Given the description of an element on the screen output the (x, y) to click on. 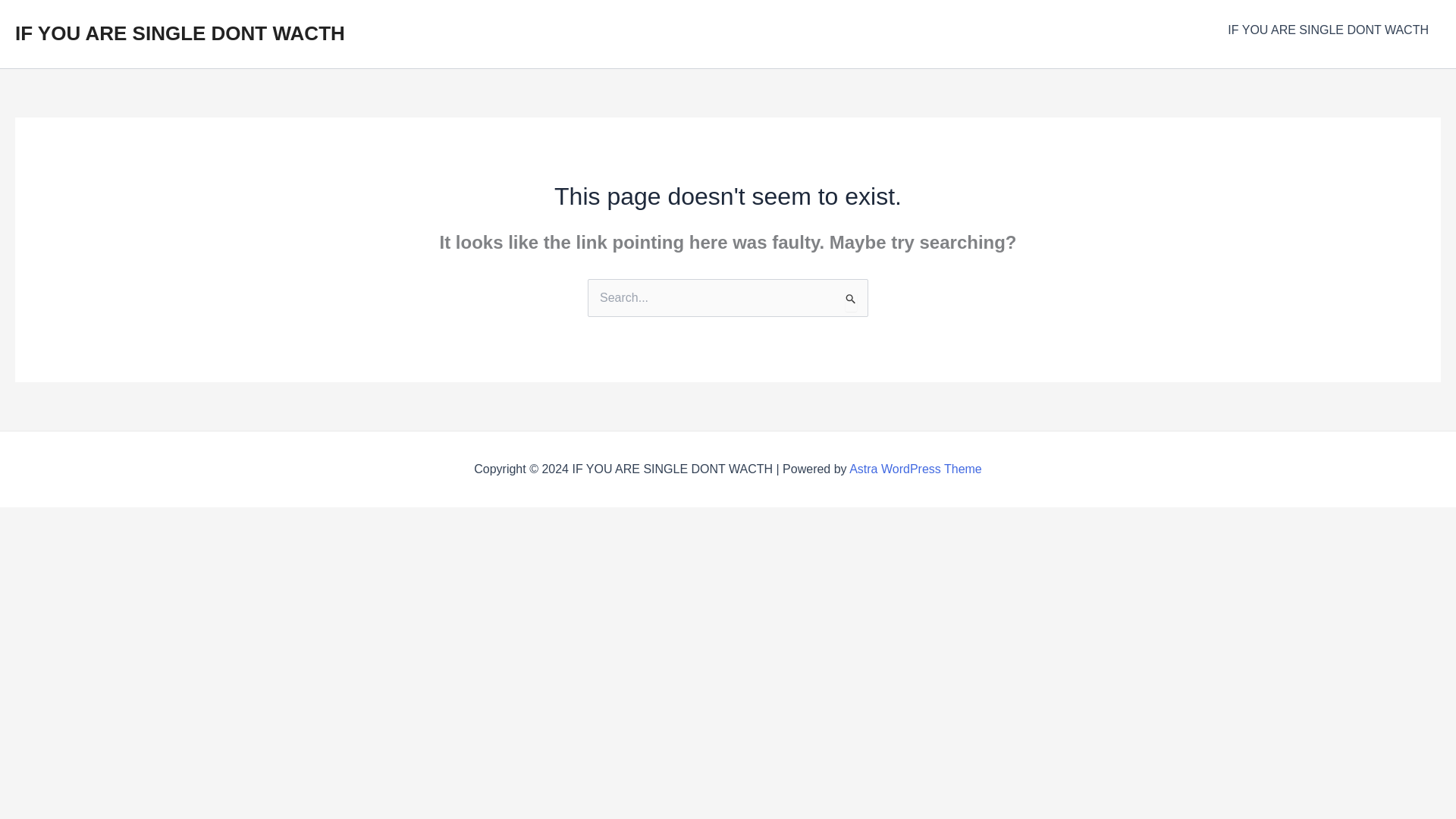
IF YOU ARE SINGLE DONT WACTH (179, 33)
Astra WordPress Theme (914, 468)
IF YOU ARE SINGLE DONT WACTH (1328, 30)
